Given the description of an element on the screen output the (x, y) to click on. 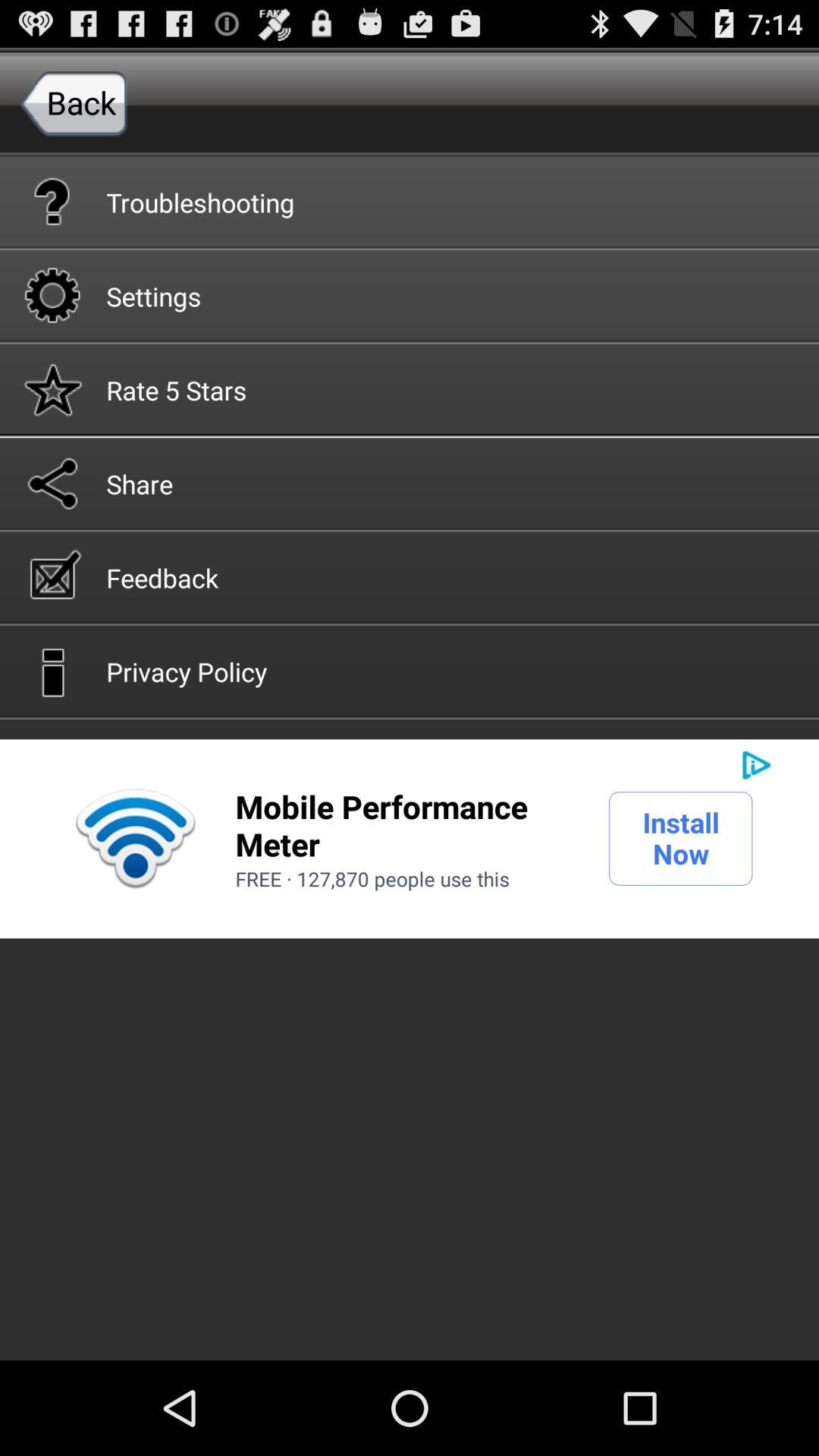
jump to the rate 5 stars icon (409, 388)
